Given the description of an element on the screen output the (x, y) to click on. 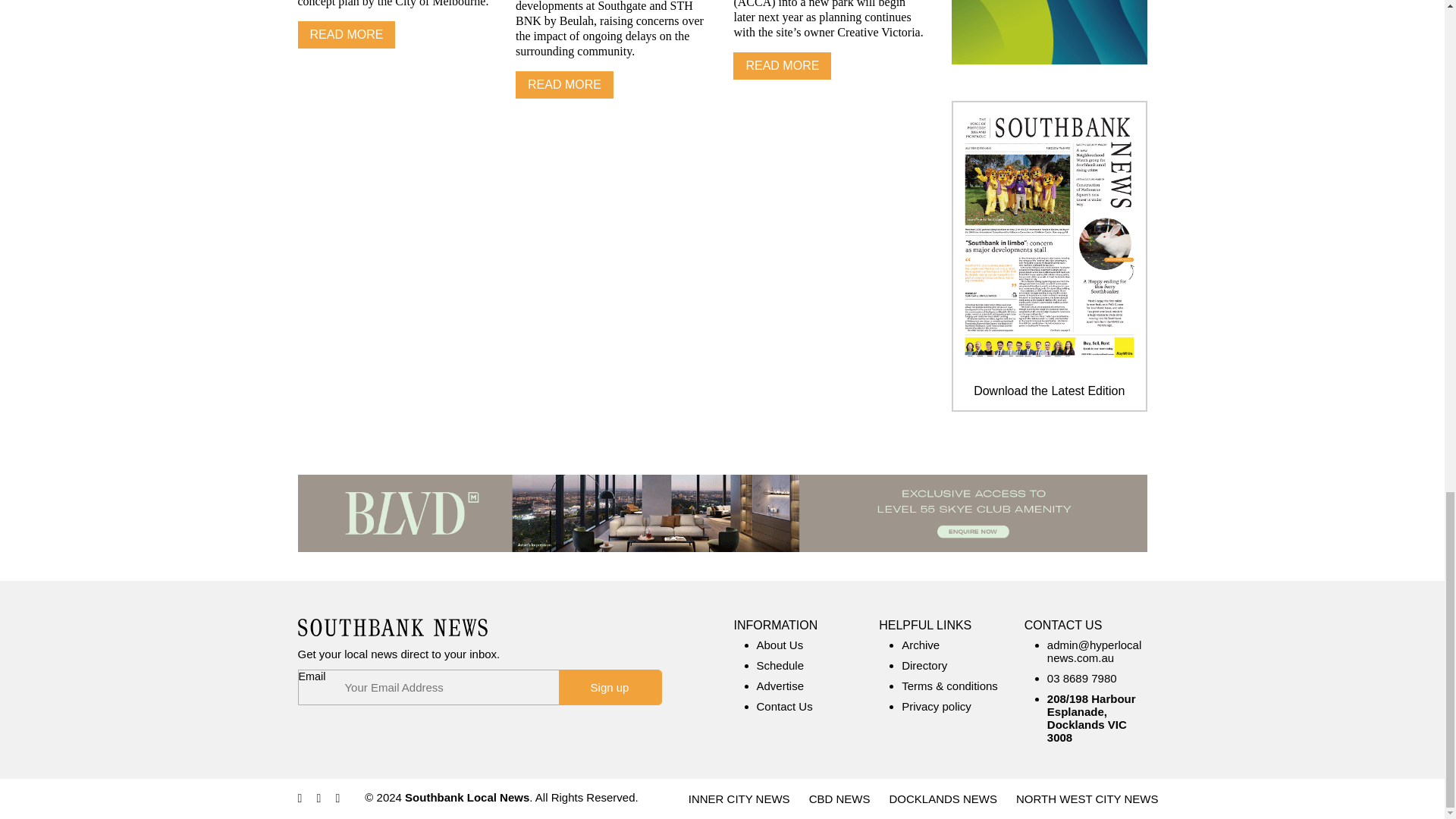
About Us (780, 644)
READ MORE (345, 34)
READ MORE (563, 84)
Contact Us (784, 706)
READ MORE (782, 65)
Sign up (609, 687)
Advertise (781, 685)
Schedule (781, 665)
